Given the description of an element on the screen output the (x, y) to click on. 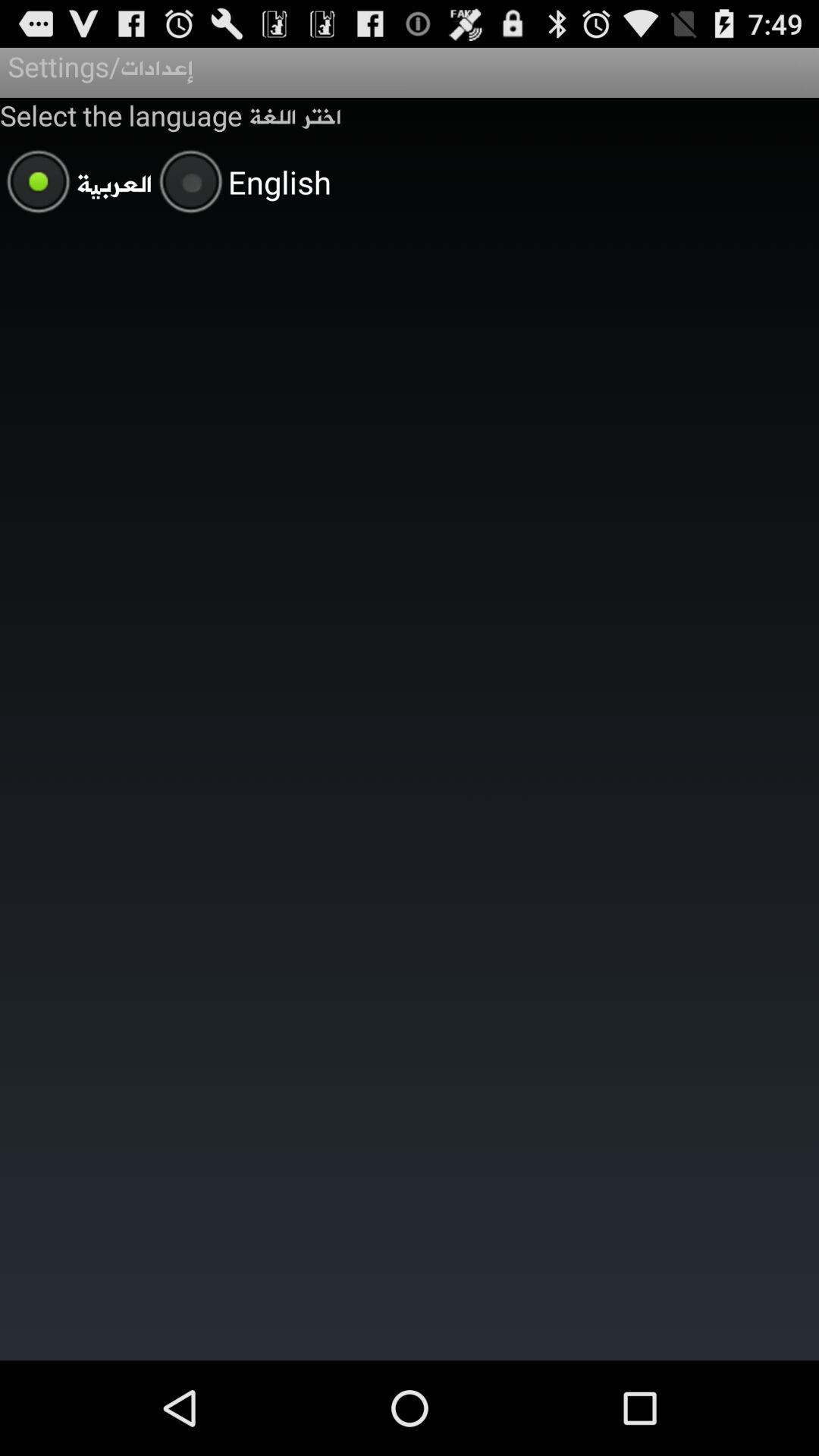
press the app below the select the language item (76, 184)
